Given the description of an element on the screen output the (x, y) to click on. 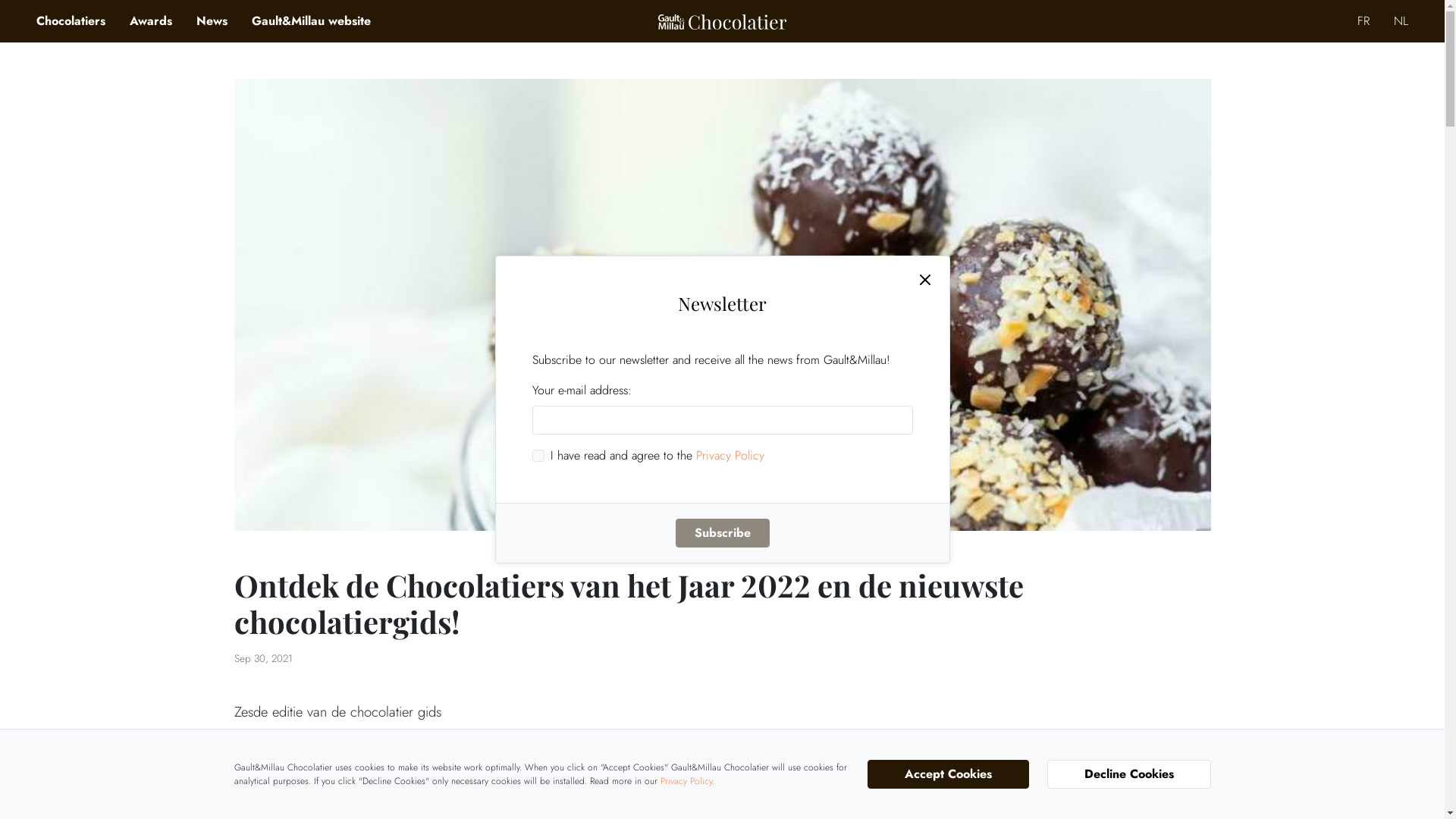
Accept Cookies Element type: text (948, 773)
Decline Cookies Element type: text (1128, 773)
Chocolatiers Element type: text (70, 21)
Privacy Policy Element type: text (730, 455)
Privacy Policy Element type: text (685, 780)
Subscribe Element type: text (721, 532)
FR Element type: text (1363, 21)
NL Element type: text (1400, 21)
News Element type: text (211, 21)
Gault&Millau website Element type: text (310, 21)
Awards Element type: text (150, 21)
